Given the description of an element on the screen output the (x, y) to click on. 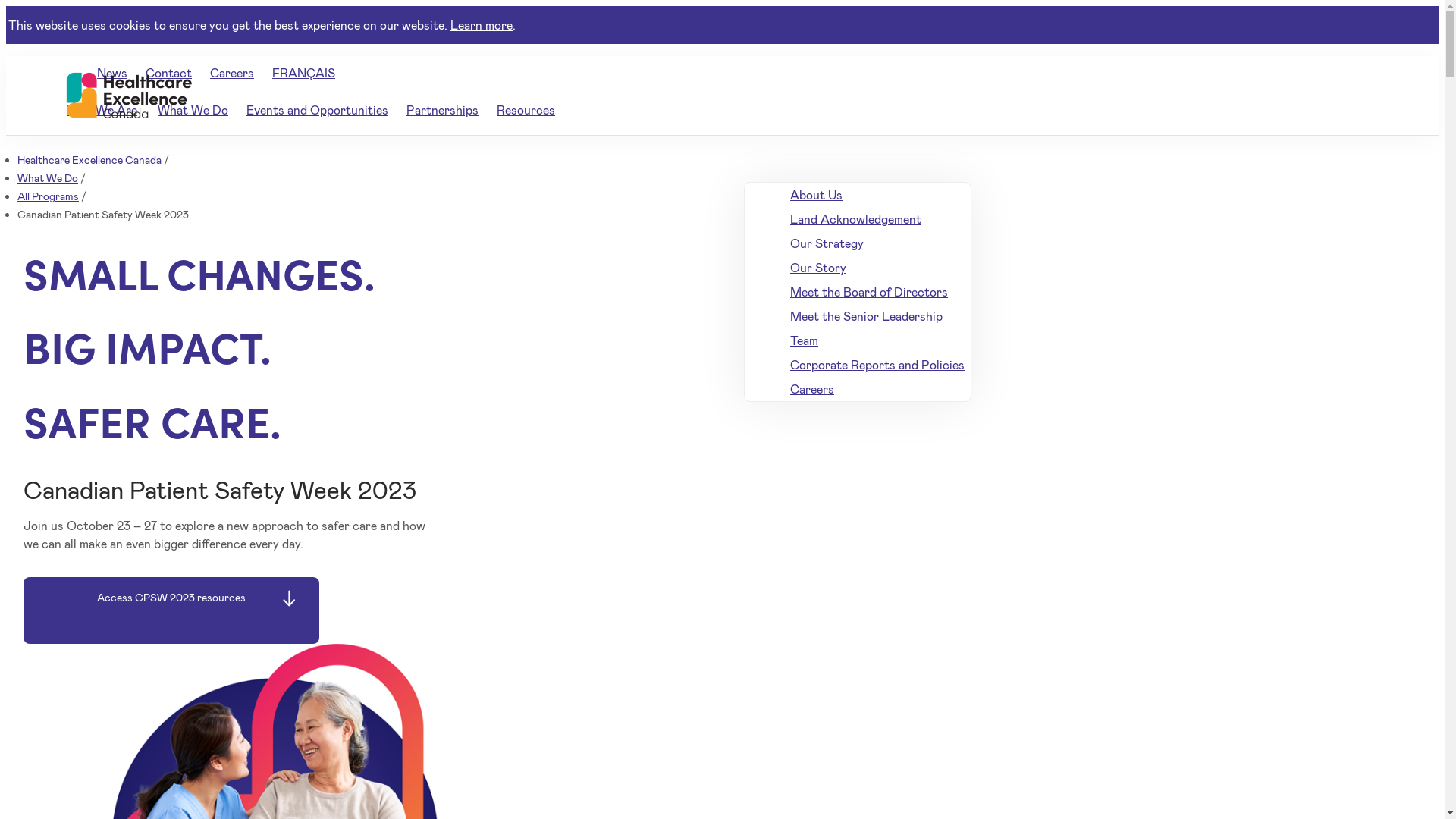
Access CPSW 2023 resources Element type: text (170, 610)
Our Story Element type: text (878, 267)
HEC Logo Element type: hover (127, 95)
Healthcare Excellence Canada Element type: text (89, 159)
Careers Element type: text (232, 72)
Who We Are Element type: text (102, 109)
Our Strategy Element type: text (878, 243)
Resources Element type: text (525, 109)
What We Do Element type: text (47, 177)
News Element type: text (112, 72)
Corporate Reports and Policies Element type: text (878, 364)
Contact Element type: text (168, 72)
What We Do Element type: text (192, 109)
All Programs Element type: text (47, 195)
About Us Element type: text (878, 194)
Land Acknowledgement Element type: text (878, 219)
Meet the Senior Leadership Team Element type: text (878, 328)
Learn more Element type: text (481, 24)
Meet the Board of Directors Element type: text (878, 291)
Partnerships Element type: text (442, 109)
Events and Opportunities Element type: text (317, 109)
Careers Element type: text (878, 388)
